Given the description of an element on the screen output the (x, y) to click on. 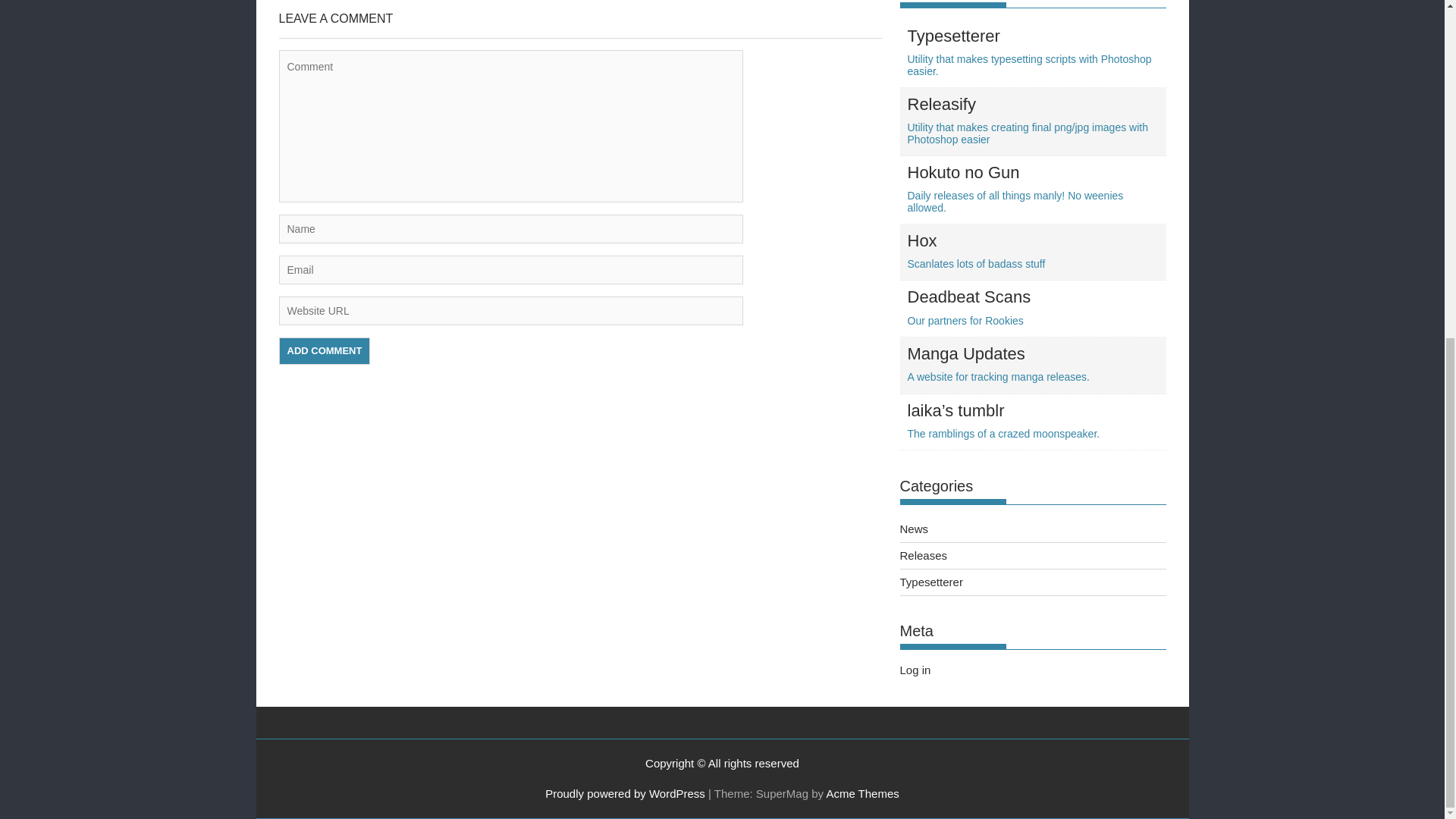
Acme Themes (861, 793)
Proudly powered by WordPress (624, 793)
Typesetterer (930, 581)
Add Comment (1034, 251)
Releases (325, 350)
Log in (923, 554)
Add Comment (914, 669)
News (325, 350)
